Given the description of an element on the screen output the (x, y) to click on. 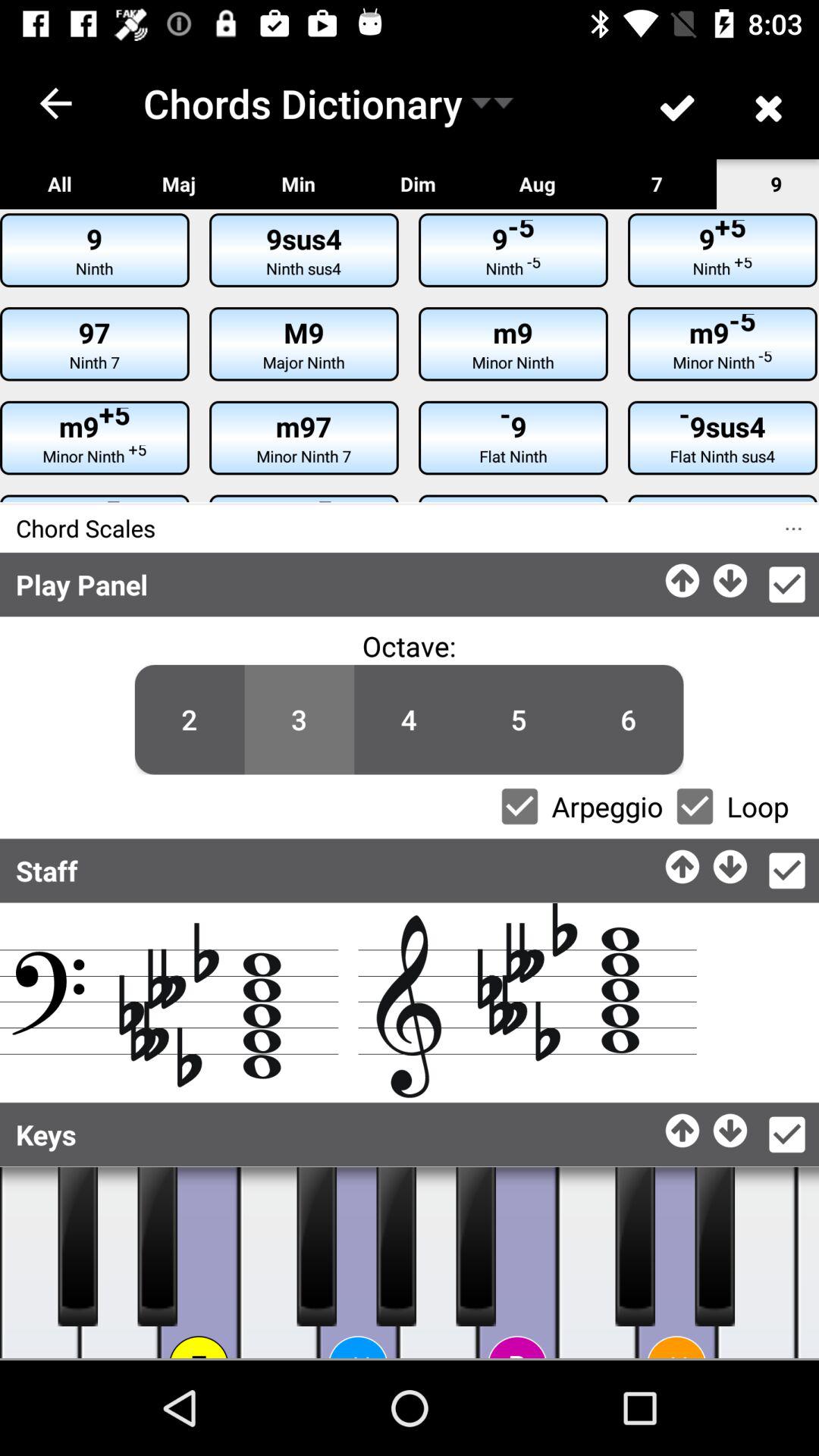
go to music (731, 1126)
